Given the description of an element on the screen output the (x, y) to click on. 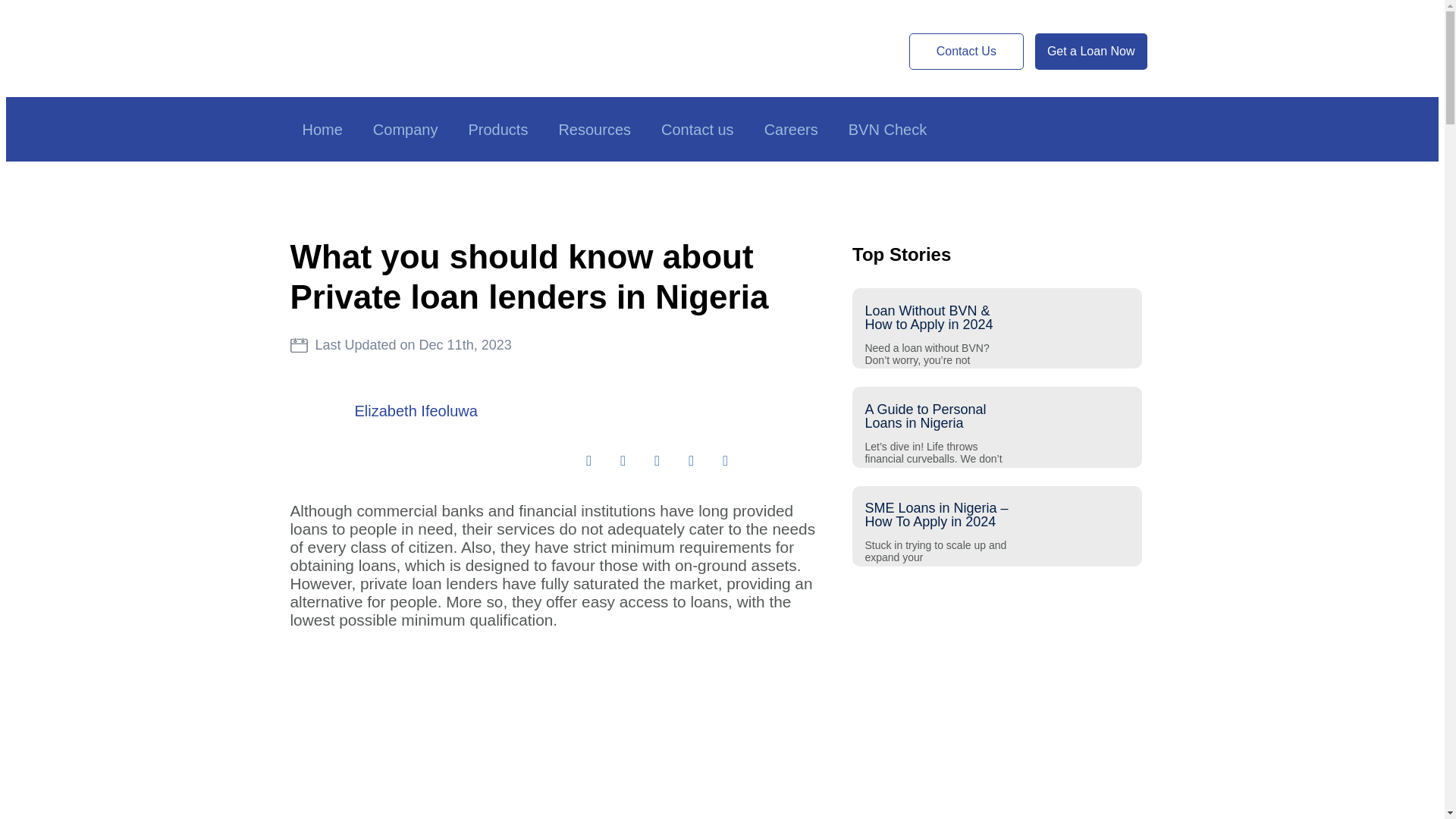
Contact Us (965, 51)
Careers (791, 129)
Company (405, 129)
Contact us (697, 129)
Resources (593, 129)
BVN Check (887, 129)
Products (497, 129)
Home (321, 129)
Get a Loan Now (1091, 51)
